Given the description of an element on the screen output the (x, y) to click on. 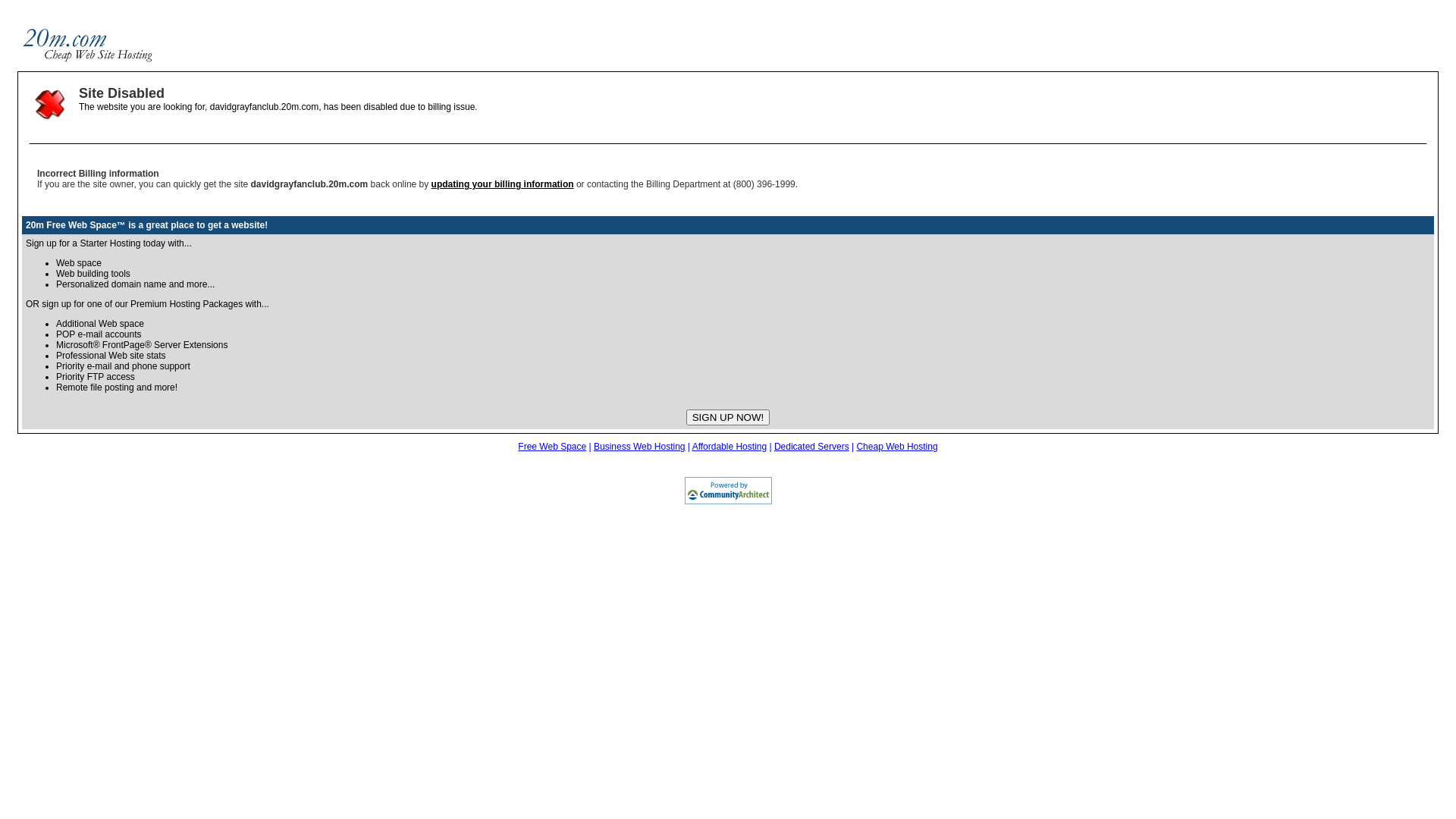
Dedicated Servers Element type: text (811, 446)
Affordable Hosting Element type: text (729, 446)
updating your billing information Element type: text (502, 183)
SIGN UP NOW! Element type: text (728, 417)
Cheap Web Hosting Element type: text (896, 446)
Free Web Space Element type: text (551, 446)
Business Web Hosting Element type: text (639, 446)
